Given the description of an element on the screen output the (x, y) to click on. 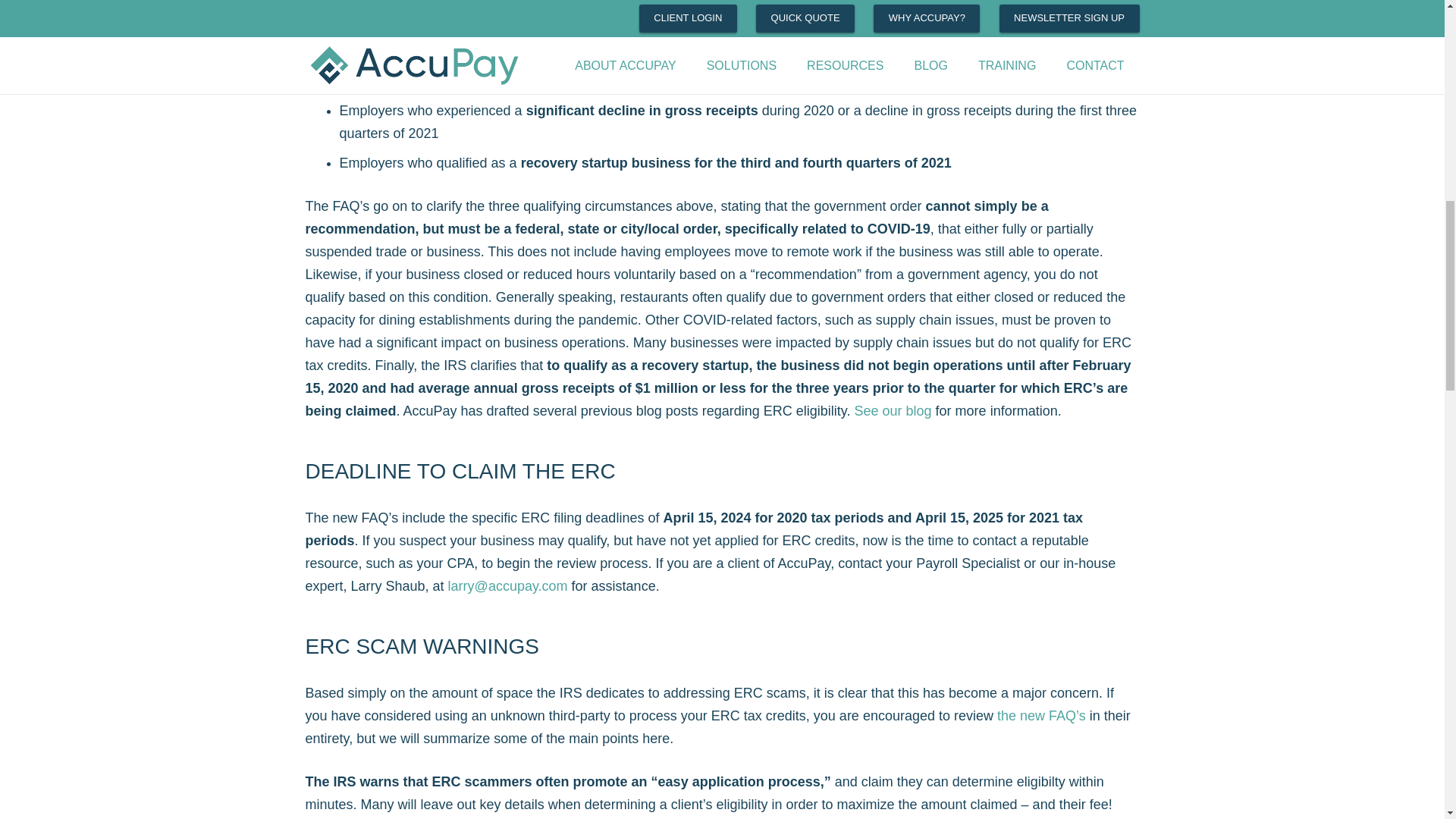
Back to top (1411, 28)
See our blog (892, 410)
